Given the description of an element on the screen output the (x, y) to click on. 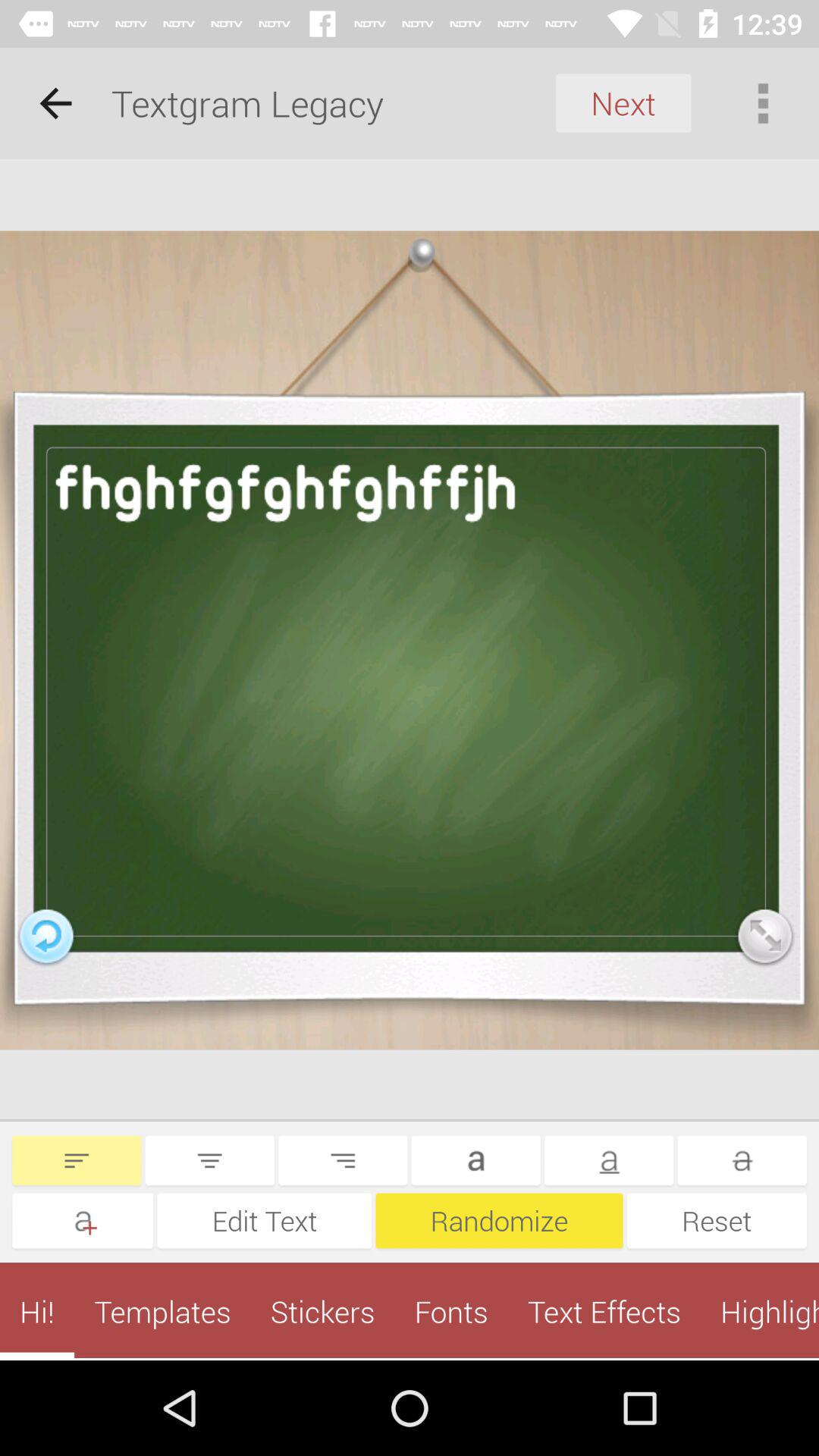
tap the app above the text effects item (716, 1220)
